Given the description of an element on the screen output the (x, y) to click on. 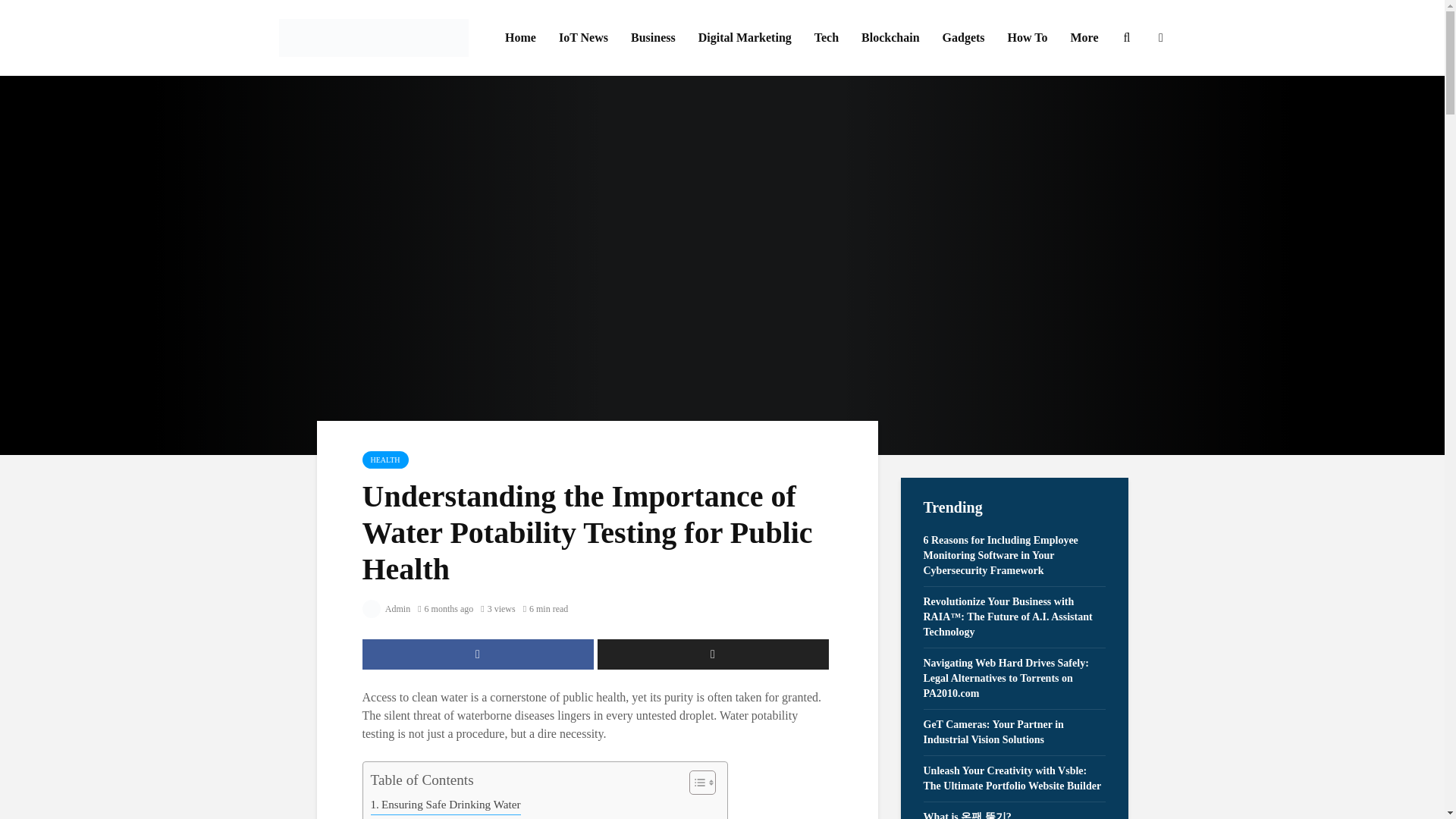
Ensuring Safe Drinking Water (444, 804)
Business (653, 37)
More (1083, 37)
Identifying and Monitoring Contaminants (471, 816)
Gadgets (963, 37)
Tech (826, 37)
Digital Marketing (745, 37)
How To (1027, 37)
IoT News (583, 37)
Home (520, 37)
